Given the description of an element on the screen output the (x, y) to click on. 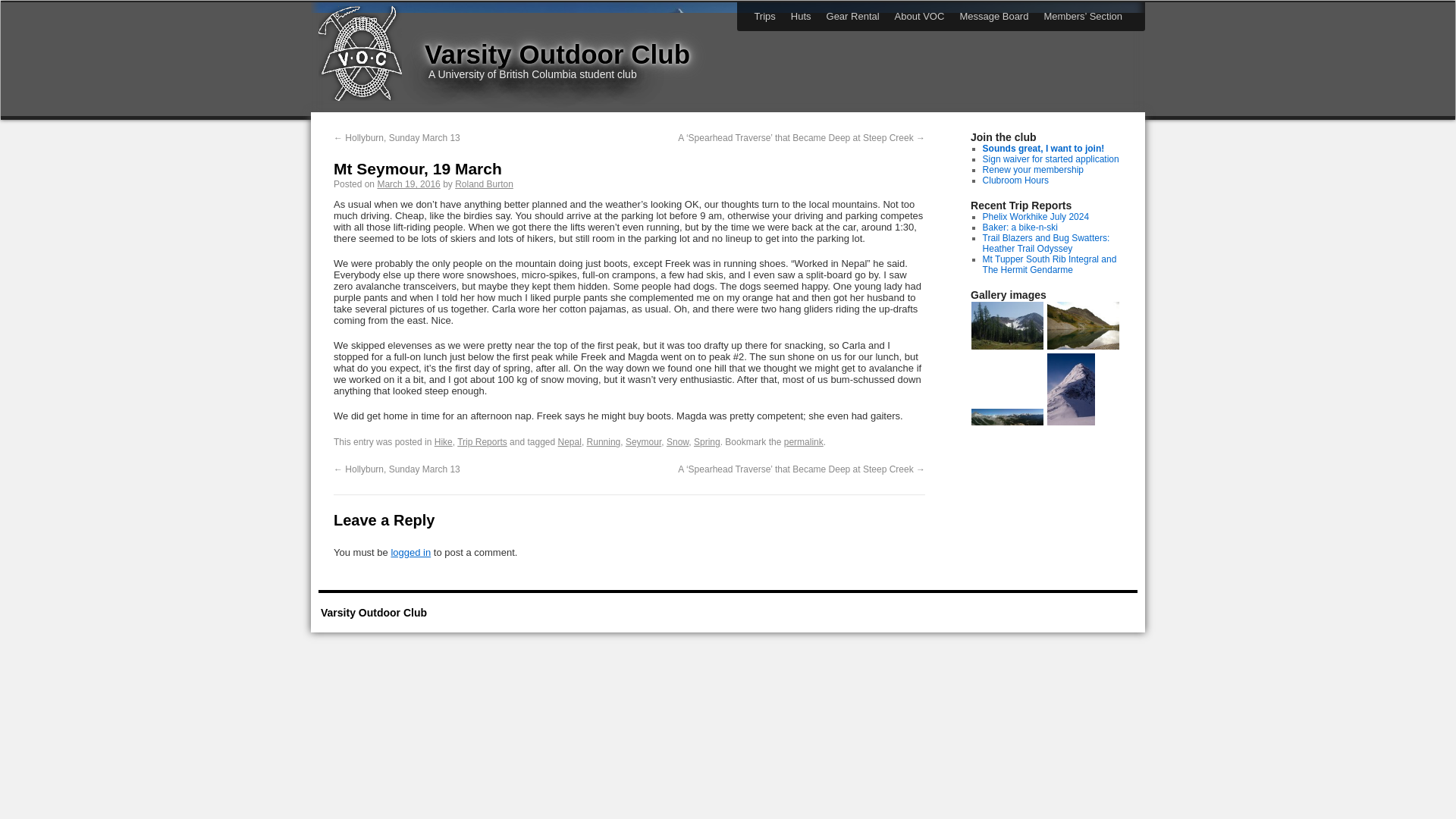
Gear Rental (852, 16)
Permalink to Mt Seymour, 19 March (804, 441)
Varsity Outdoor Club (557, 53)
Varsity Outdoor Club (557, 53)
Renew your membership (1032, 169)
Message Board (993, 16)
IMGP7597 (1082, 347)
March 19, 2016 (408, 184)
Trips (764, 16)
Sounds great, I want to join! (1043, 148)
Permanent link to Baker: a bike-n-ski (1020, 226)
Seymour (643, 441)
Clubroom Hours (1015, 180)
Hike (442, 441)
